Given the description of an element on the screen output the (x, y) to click on. 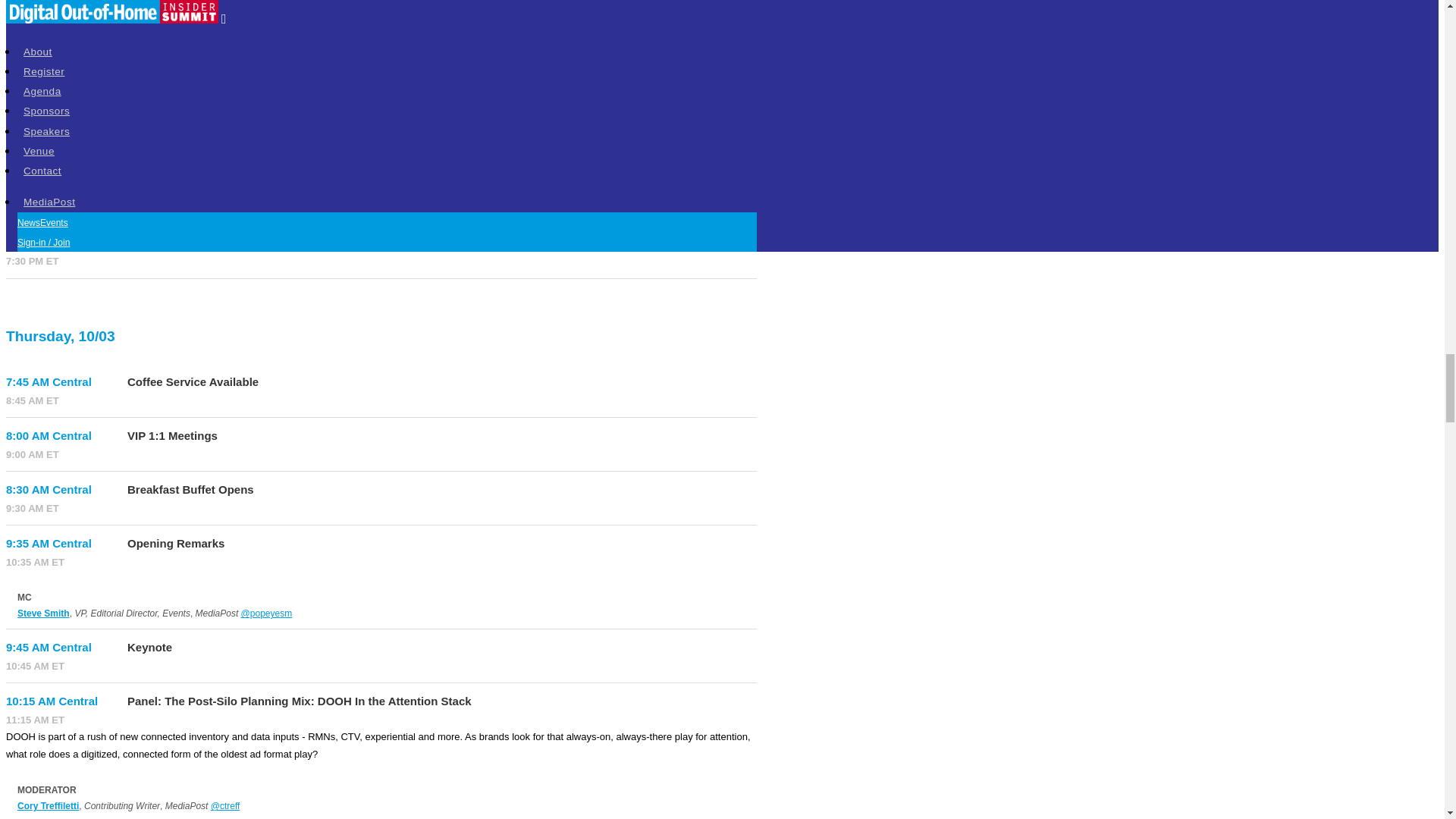
Cory Treffiletti (47, 805)
Steve Smith (43, 613)
